Given the description of an element on the screen output the (x, y) to click on. 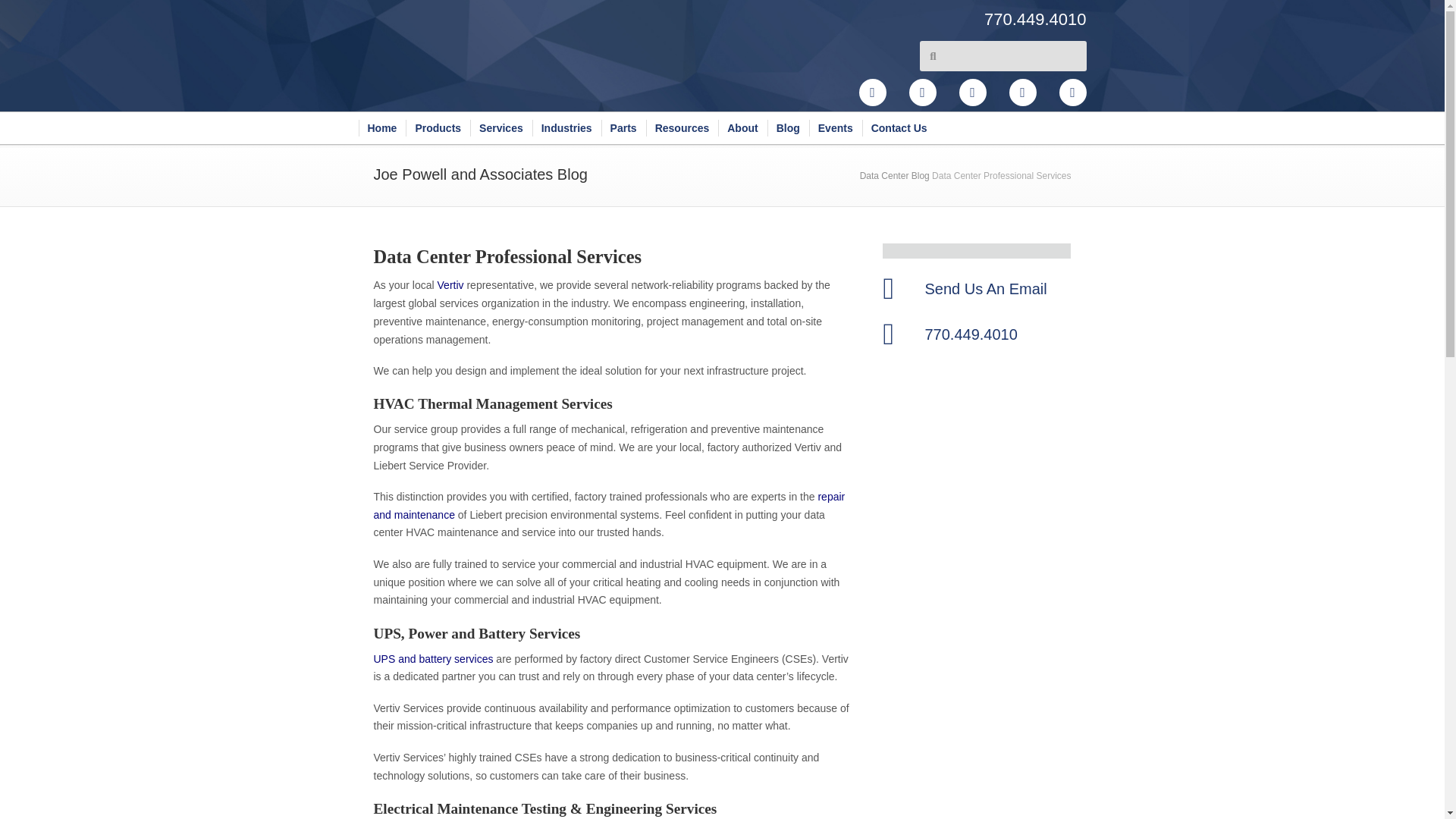
Industries (566, 128)
Search (1011, 55)
Products (438, 128)
Home (382, 128)
770.449.4010 (947, 18)
Services (501, 128)
